Given the description of an element on the screen output the (x, y) to click on. 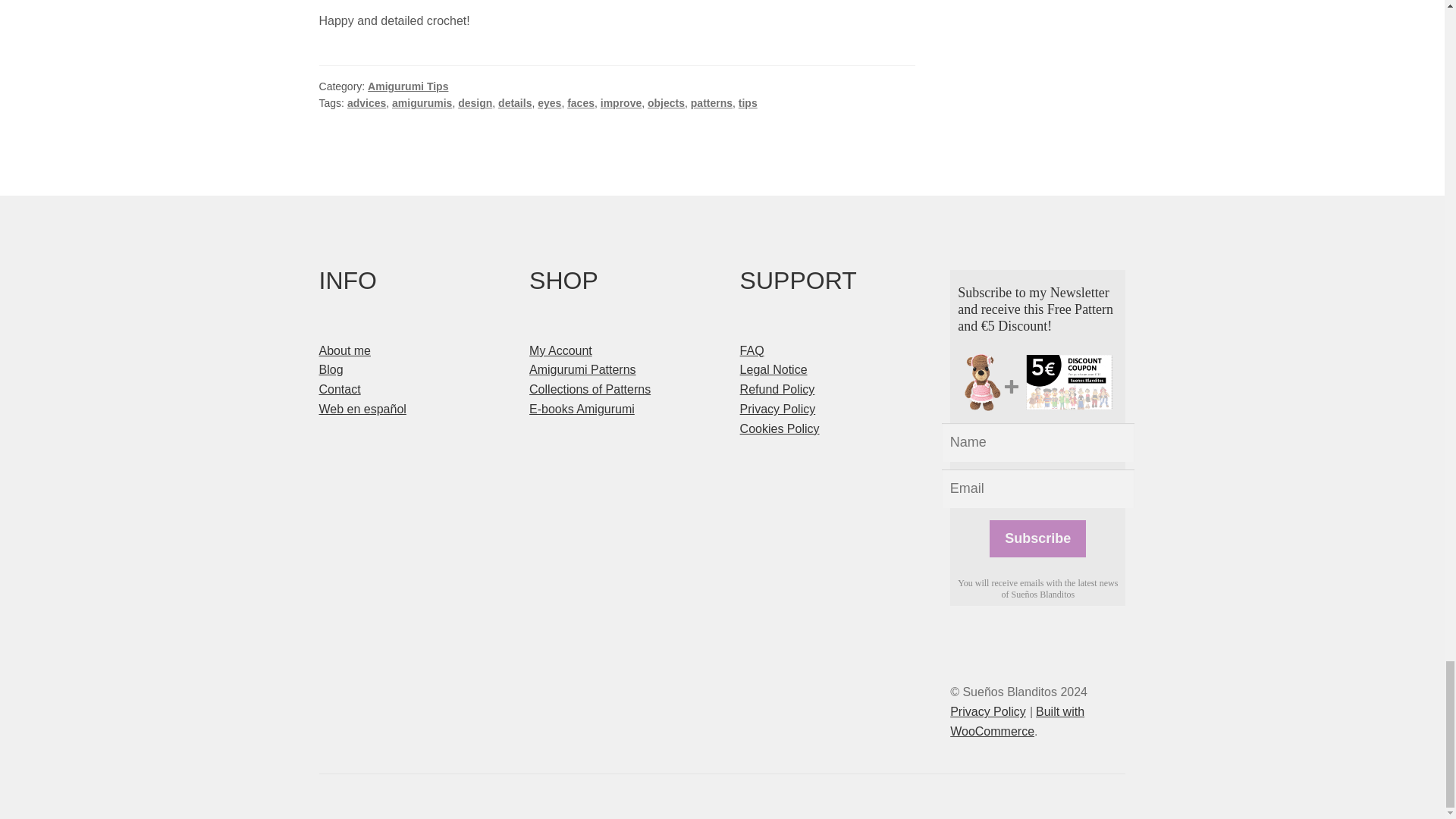
Amigurumi Tips (408, 86)
WooCommerce - The Best eCommerce Platform for WordPress (1017, 721)
